Given the description of an element on the screen output the (x, y) to click on. 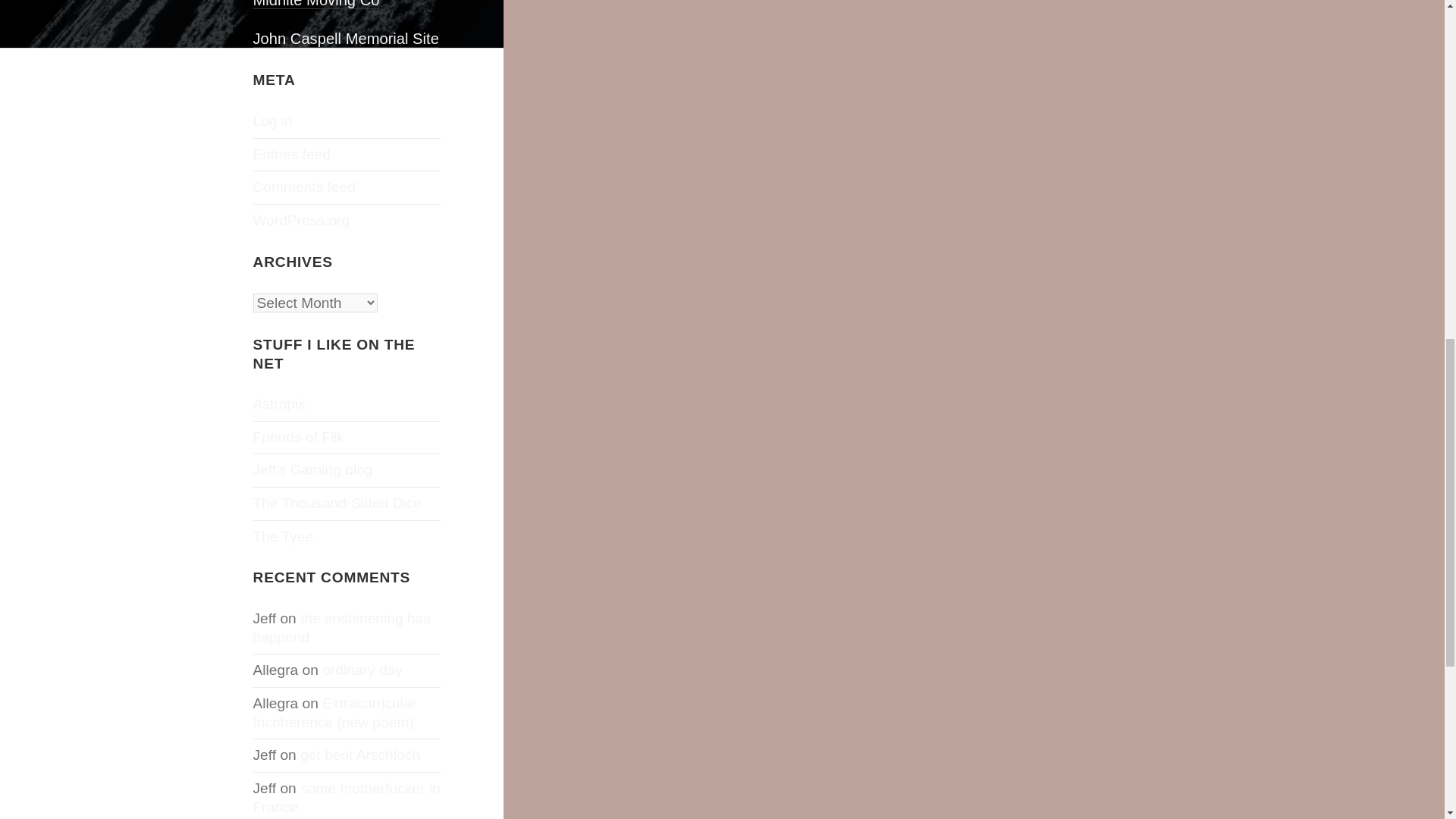
the enshinening has happend (341, 627)
Entries feed (291, 154)
Filk site (298, 437)
ordinary day (362, 669)
WordPress.org (301, 220)
The Tyee (283, 536)
Astropix (279, 403)
The Thousand-Sided Dice (337, 503)
some motherfucker in France (347, 797)
get bent Arschloch (359, 754)
John Caspell Memorial Site (346, 39)
Friends of Filk (298, 437)
Log in (272, 120)
Comments feed (304, 186)
